Given the description of an element on the screen output the (x, y) to click on. 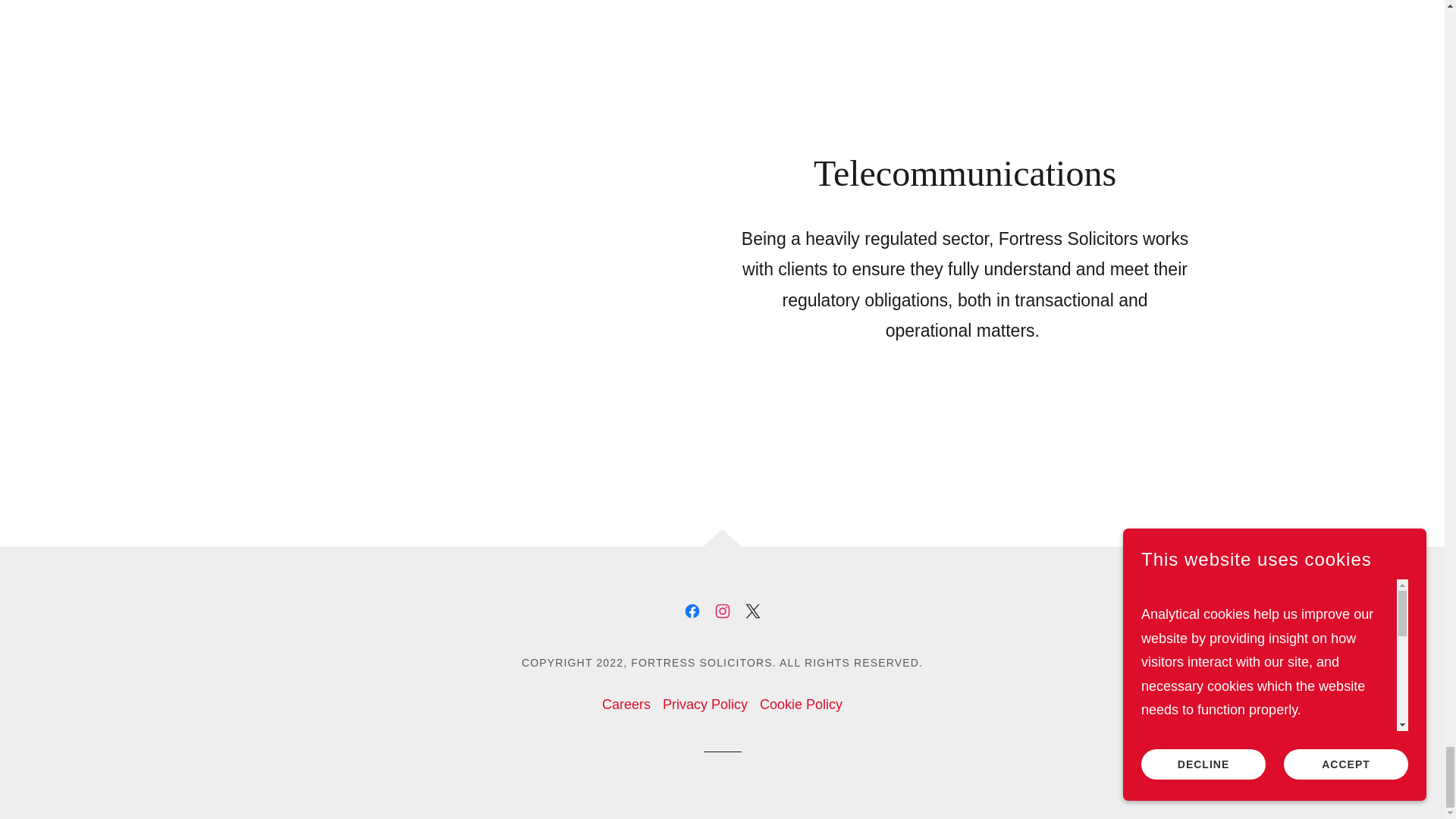
Privacy Policy (705, 704)
Careers (625, 704)
Cookie Policy (801, 704)
